Given the description of an element on the screen output the (x, y) to click on. 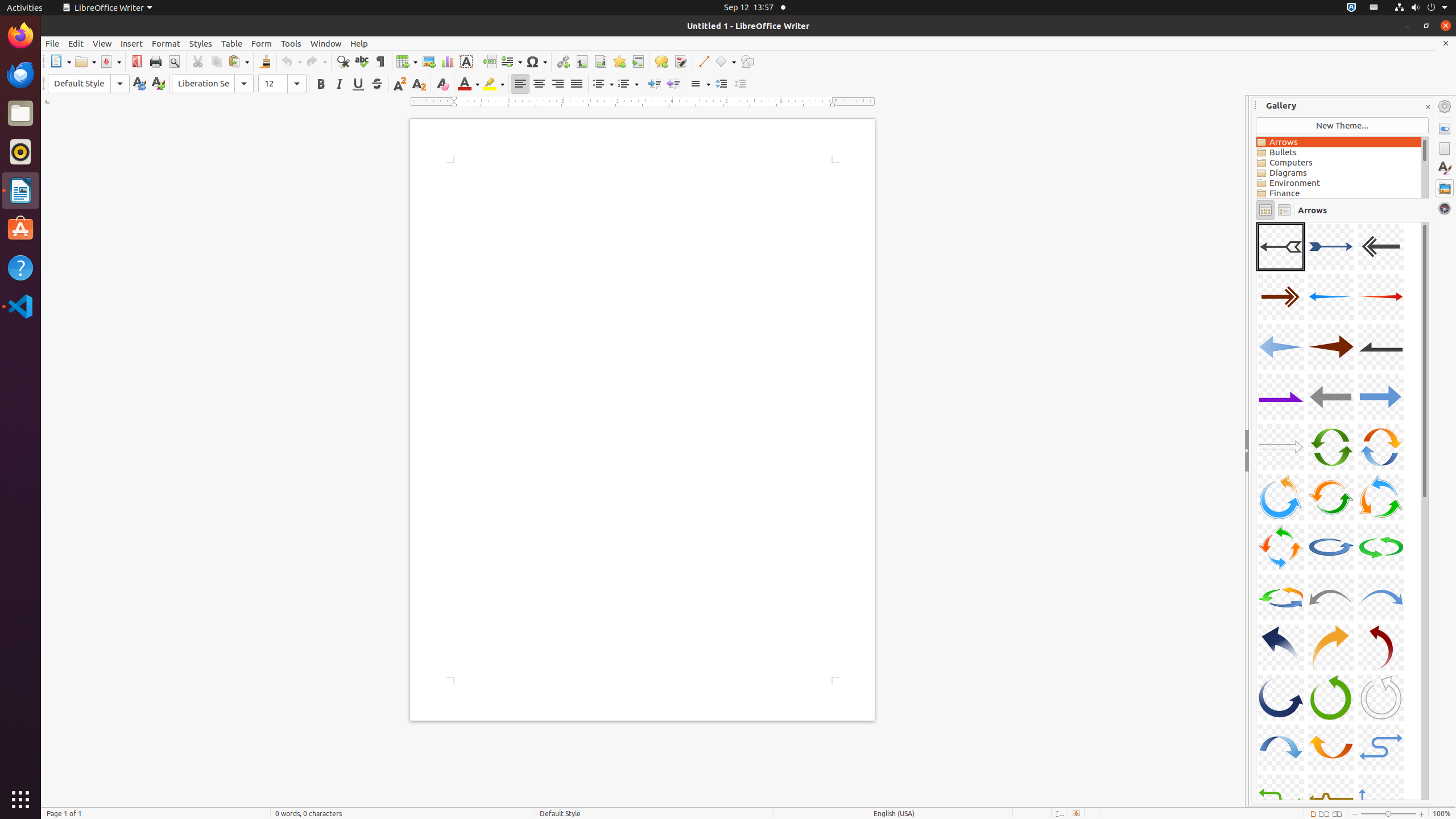
Line Element type: push-button (702, 61)
Print Preview Element type: toggle-button (173, 61)
Italic Element type: toggle-button (338, 83)
A32-CurvedArrow-Orange Element type: list-item (1330, 746)
Endnote Element type: push-button (599, 61)
